Given the description of an element on the screen output the (x, y) to click on. 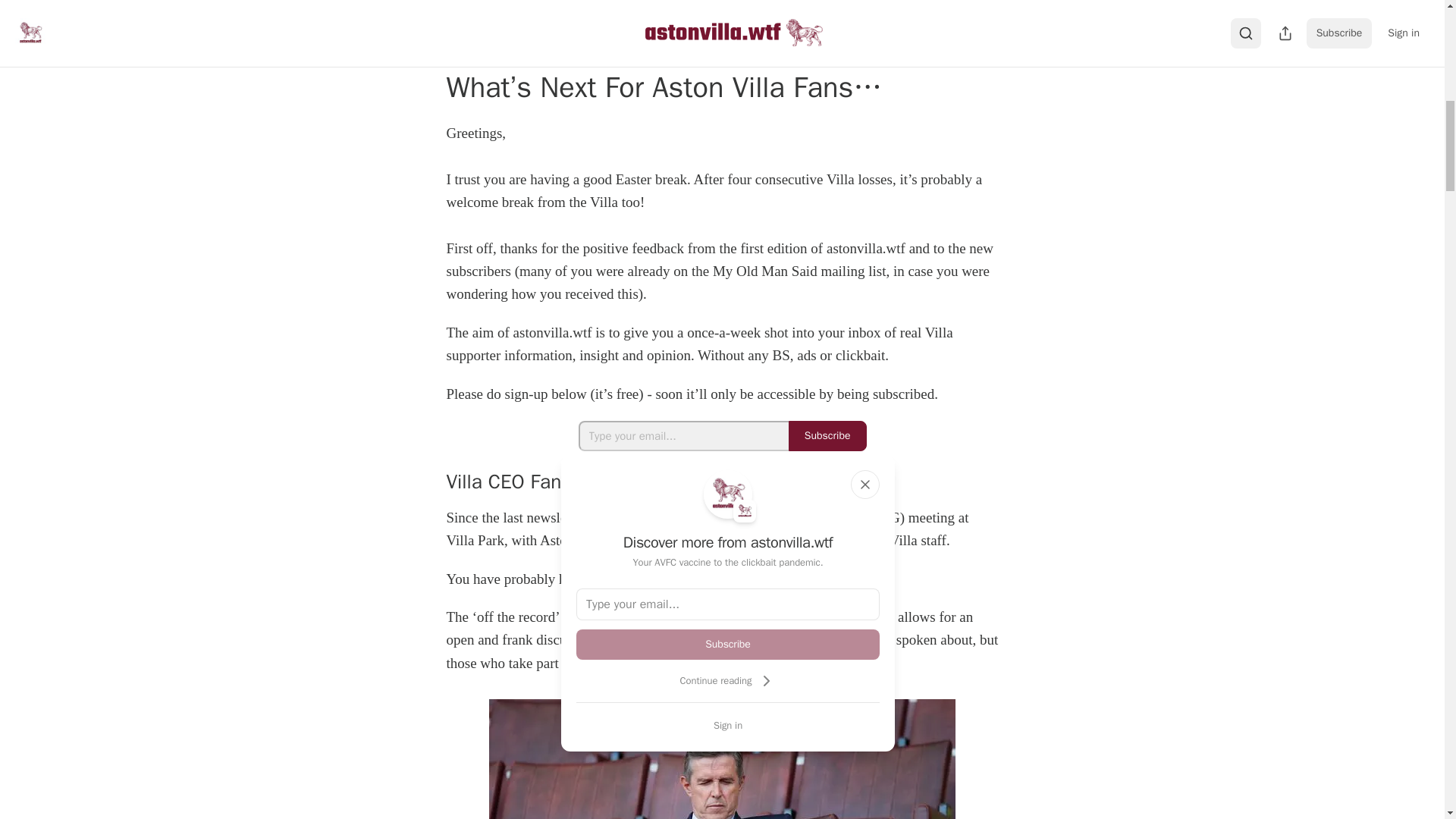
Sign in (727, 725)
general notes from that meeting (783, 578)
Subscribe (727, 644)
Subscribe (827, 435)
